Given the description of an element on the screen output the (x, y) to click on. 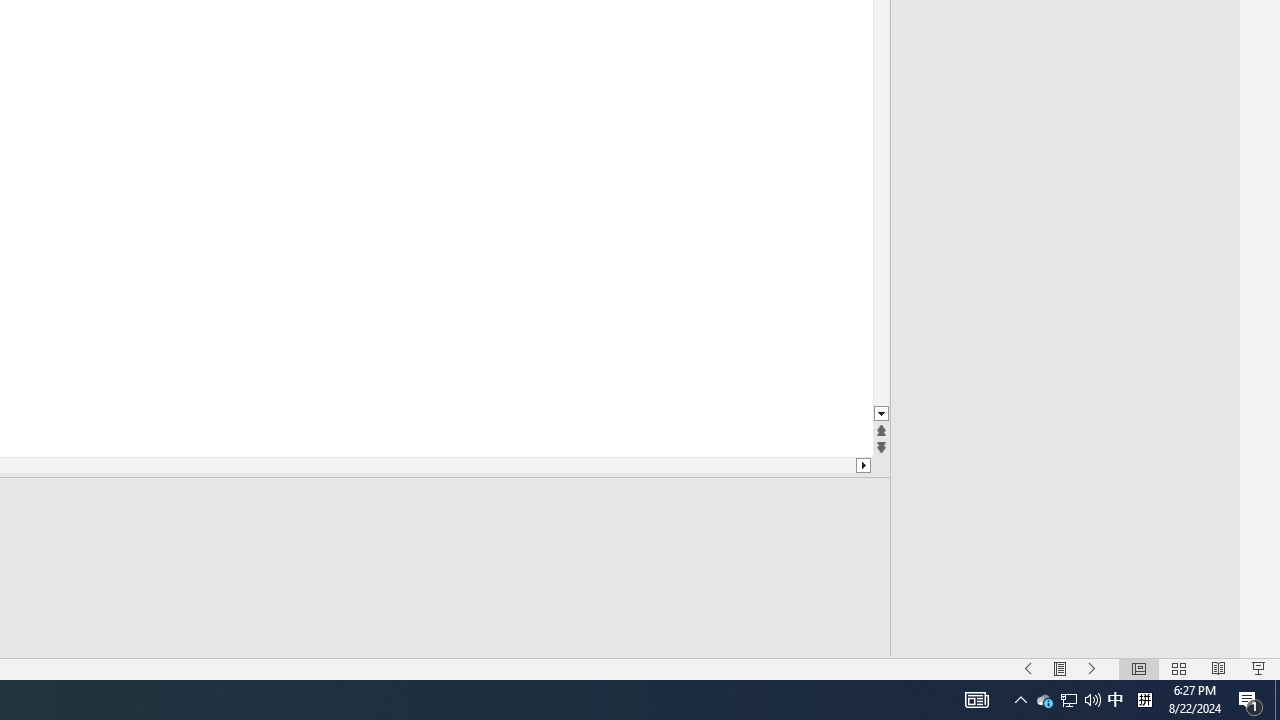
Slide Show Previous On (1028, 668)
Menu On (1060, 668)
Slide Show Next On (1092, 668)
